Given the description of an element on the screen output the (x, y) to click on. 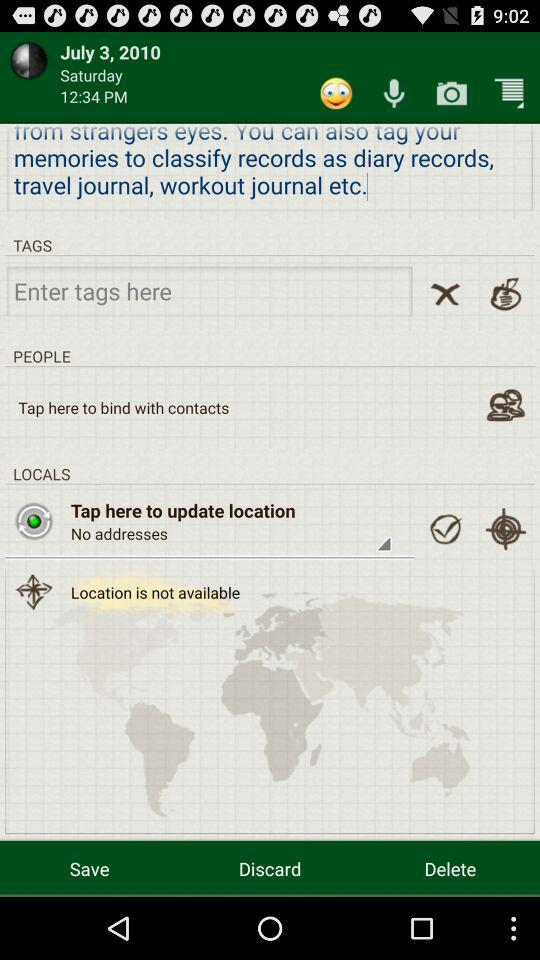
menu button (509, 92)
